Given the description of an element on the screen output the (x, y) to click on. 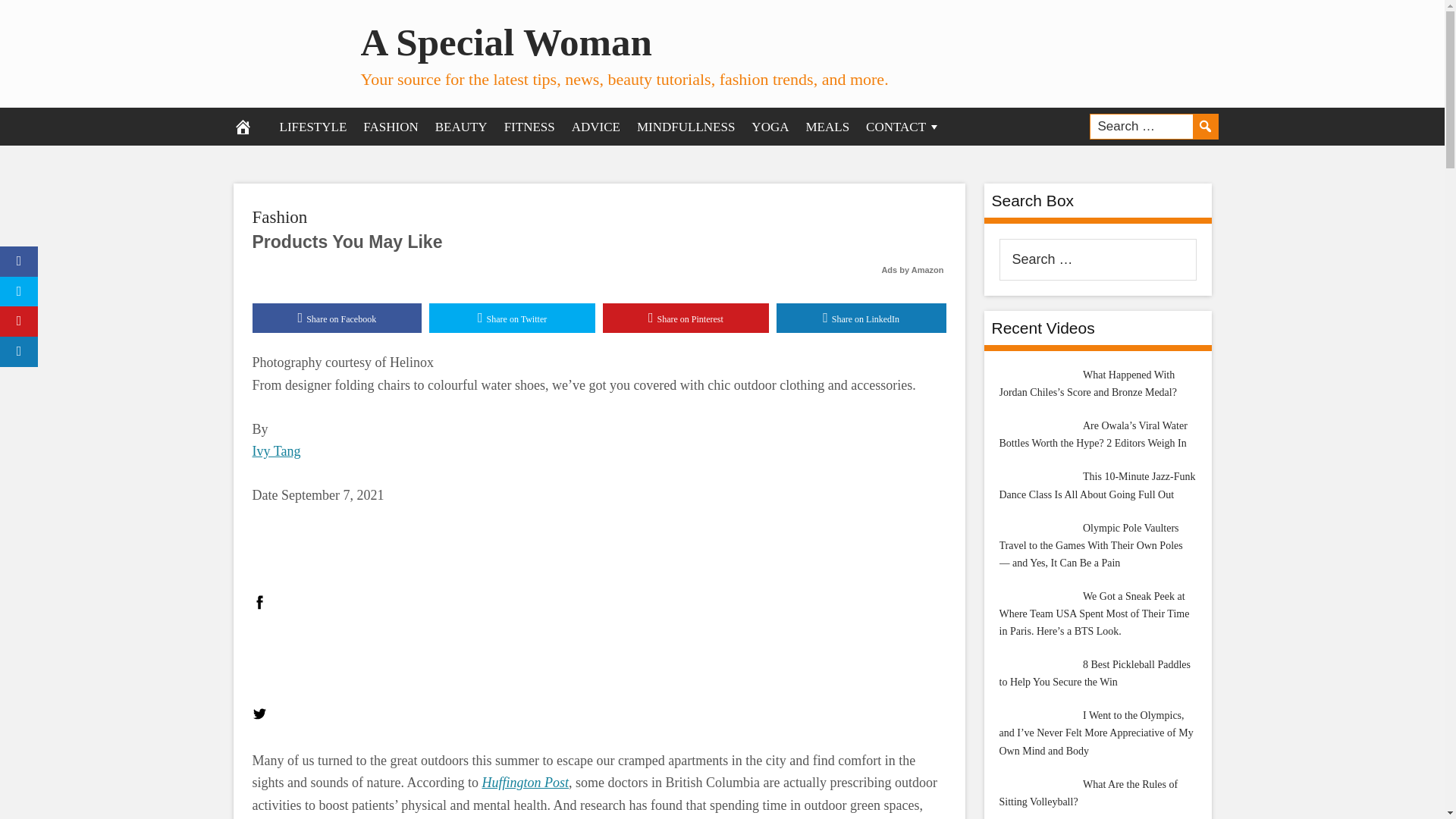
YOGA (769, 126)
MEALS (826, 126)
A Special Woman (506, 42)
FASHION (390, 126)
ADVICE (595, 126)
FITNESS (529, 126)
LIFESTYLE (312, 126)
